Given the description of an element on the screen output the (x, y) to click on. 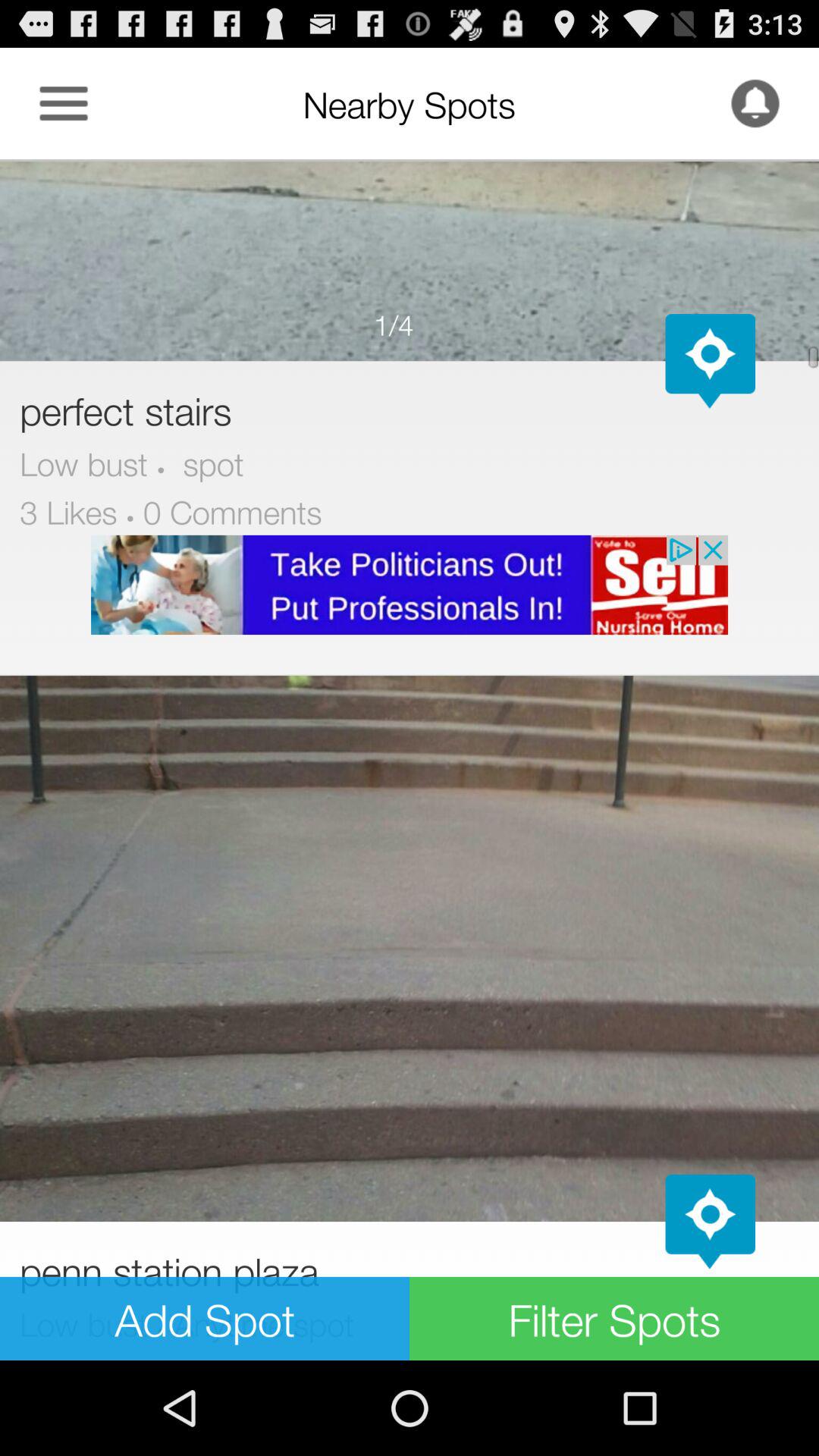
click on this advertisement (409, 584)
